Given the description of an element on the screen output the (x, y) to click on. 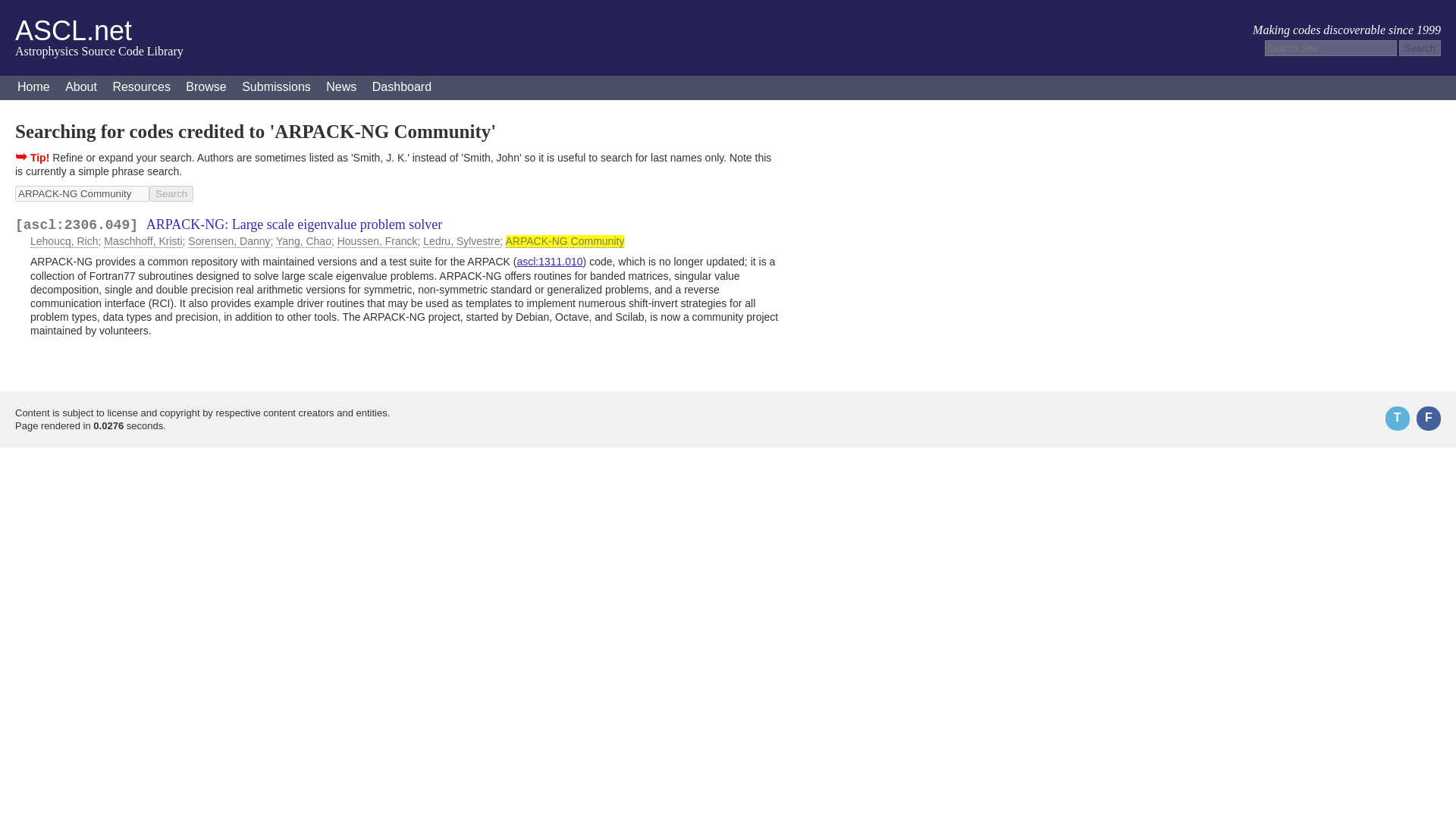
About (81, 87)
ARPACK-NG Community (564, 241)
Sorensen, Danny (228, 241)
Dashboard (402, 87)
Yang, Chao (303, 241)
Resources (141, 87)
Maschhoff, Kristi (142, 241)
Like ASCL on Facebook (1428, 418)
Search (171, 193)
Submissions (276, 87)
